Given the description of an element on the screen output the (x, y) to click on. 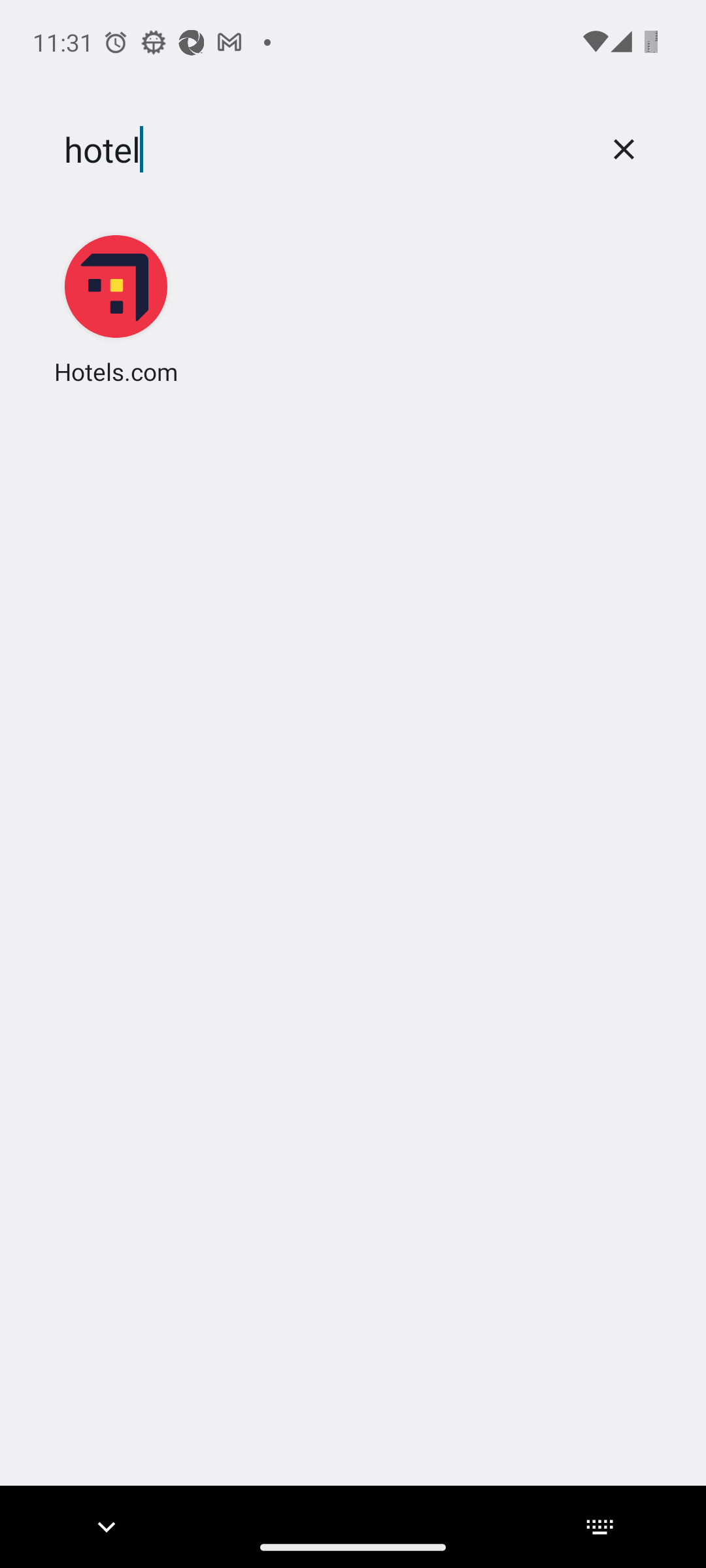
hotel (321, 149)
Clear search box (623, 149)
Hotels.com (115, 308)
